Given the description of an element on the screen output the (x, y) to click on. 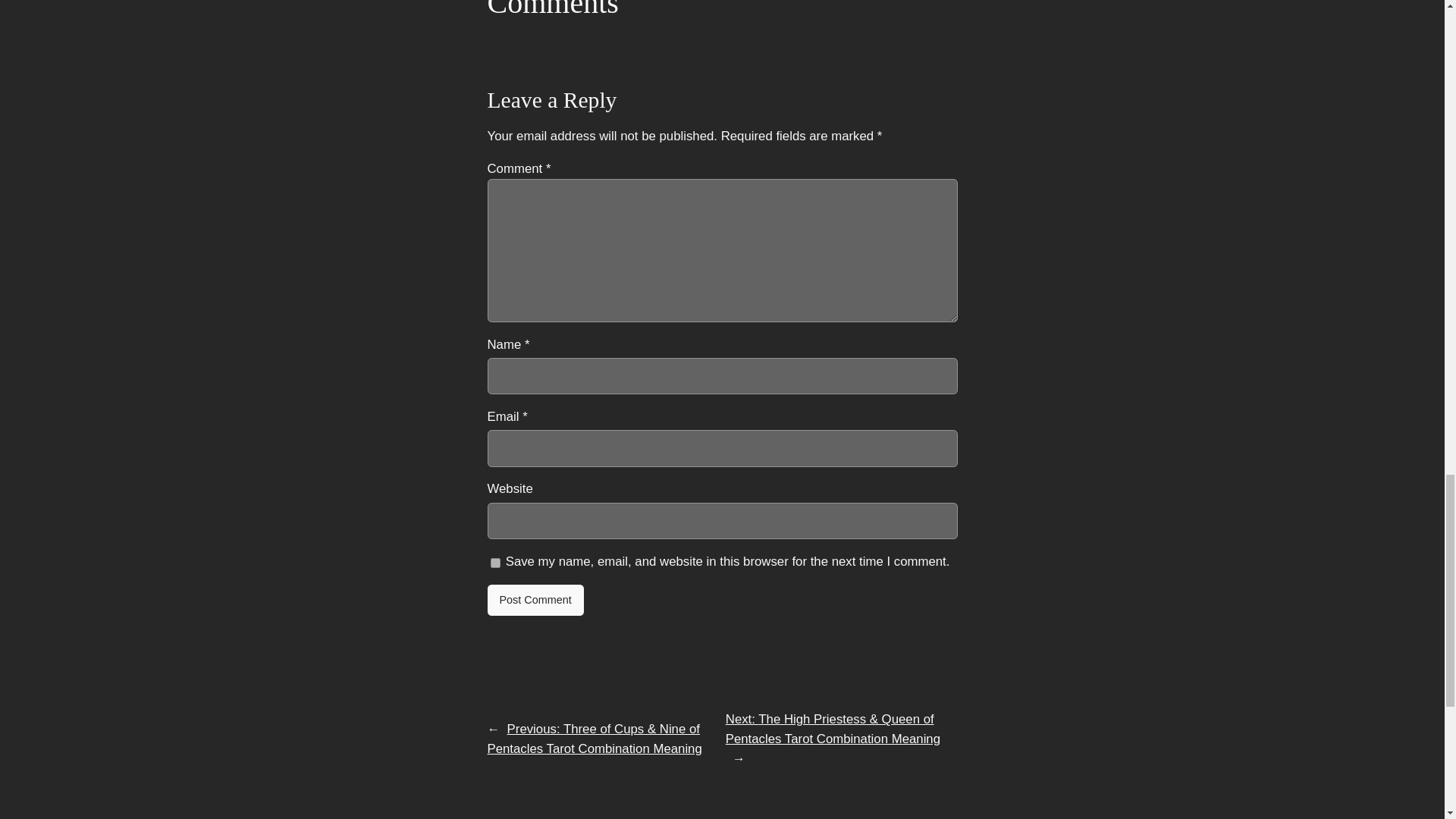
Post Comment (534, 600)
Post Comment (534, 600)
yes (494, 562)
